Given the description of an element on the screen output the (x, y) to click on. 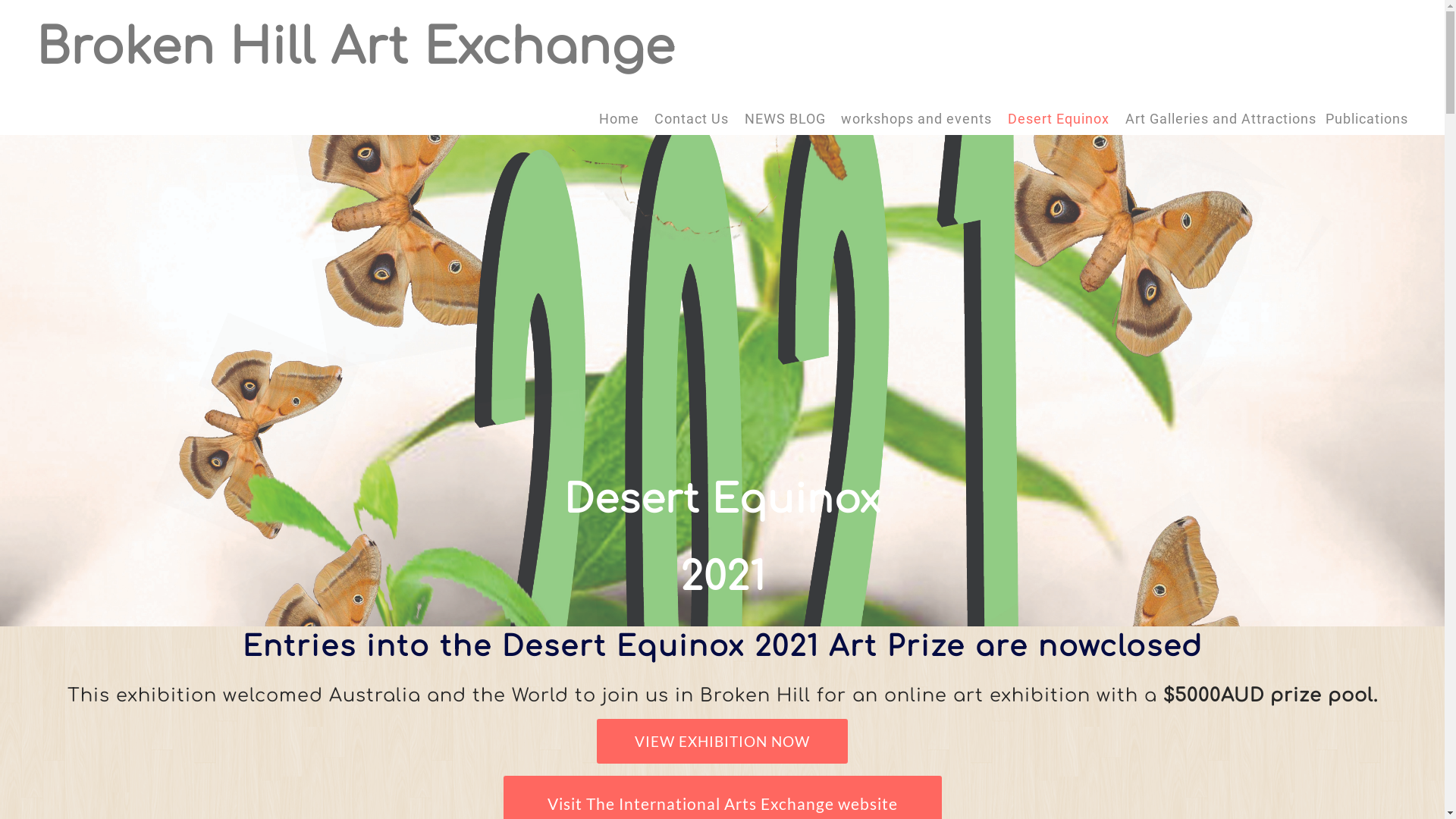
workshops and events Element type: text (915, 118)
Broken Hill Art Exchange Element type: text (355, 48)
Contact Us Element type: text (691, 118)
Desert Equinox Element type: text (1060, 118)
NEWS BLOG Element type: text (784, 118)
Home Element type: text (619, 118)
Art Galleries and Attractions Element type: text (1220, 118)
Publications Element type: text (1366, 118)
VIEW EXHIBITION NOW Element type: text (721, 740)
